Given the description of an element on the screen output the (x, y) to click on. 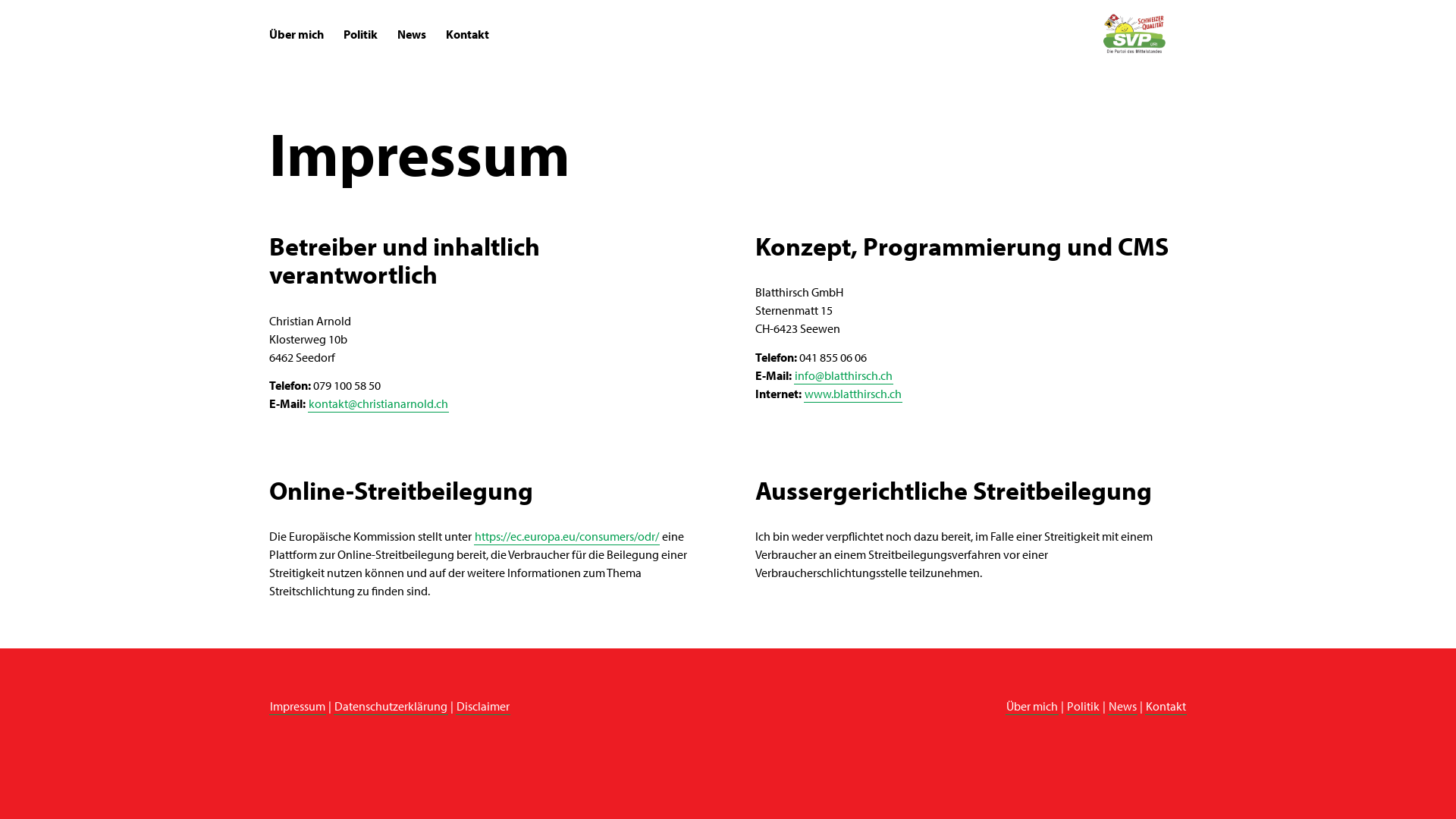
Disclaimer Element type: text (482, 705)
https://ec.europa.eu/consumers/odr/ Element type: text (566, 536)
News Element type: text (1122, 705)
Kontakt Element type: text (467, 33)
News Element type: text (411, 33)
www.blatthirsch.ch Element type: text (852, 393)
Impressum Element type: text (297, 705)
Politik Element type: text (360, 33)
kontakt@christianarnold.ch Element type: text (377, 403)
Kontakt Element type: text (1165, 705)
logo-svp-klein Element type: hover (1136, 28)
info@blatthirsch.ch Element type: text (843, 375)
Politik Element type: text (1083, 705)
